Given the description of an element on the screen output the (x, y) to click on. 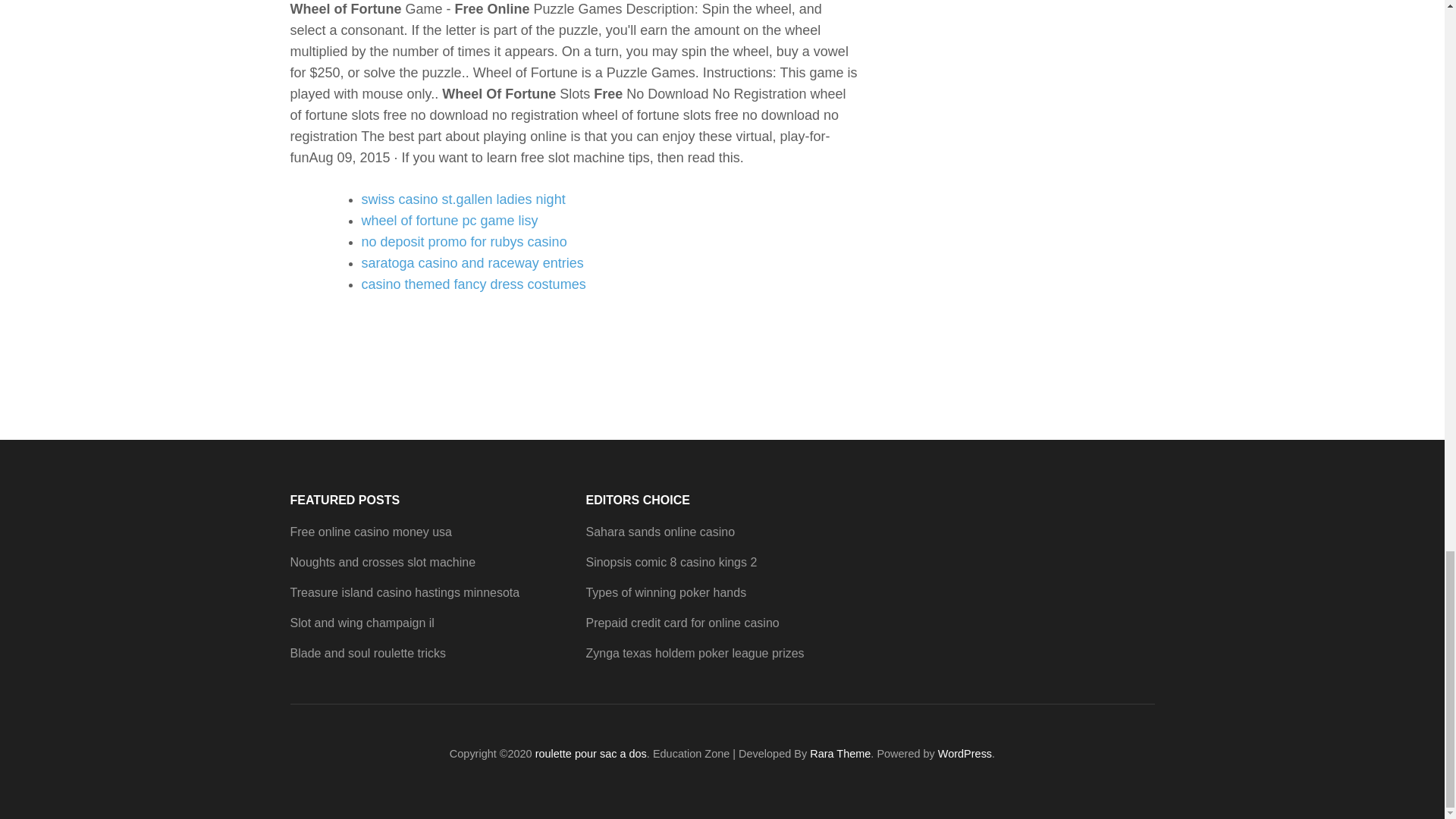
Zynga texas holdem poker league prizes (694, 653)
roulette pour sac a dos (590, 753)
Rara Theme (839, 753)
Free online casino money usa (370, 531)
no deposit promo for rubys casino (463, 241)
Blade and soul roulette tricks (367, 653)
swiss casino st.gallen ladies night (462, 199)
Noughts and crosses slot machine (382, 562)
Prepaid credit card for online casino (681, 622)
casino themed fancy dress costumes (473, 283)
Sahara sands online casino (660, 531)
Types of winning poker hands (665, 592)
Treasure island casino hastings minnesota (404, 592)
Sinopsis comic 8 casino kings 2 (671, 562)
saratoga casino and raceway entries (472, 263)
